Given the description of an element on the screen output the (x, y) to click on. 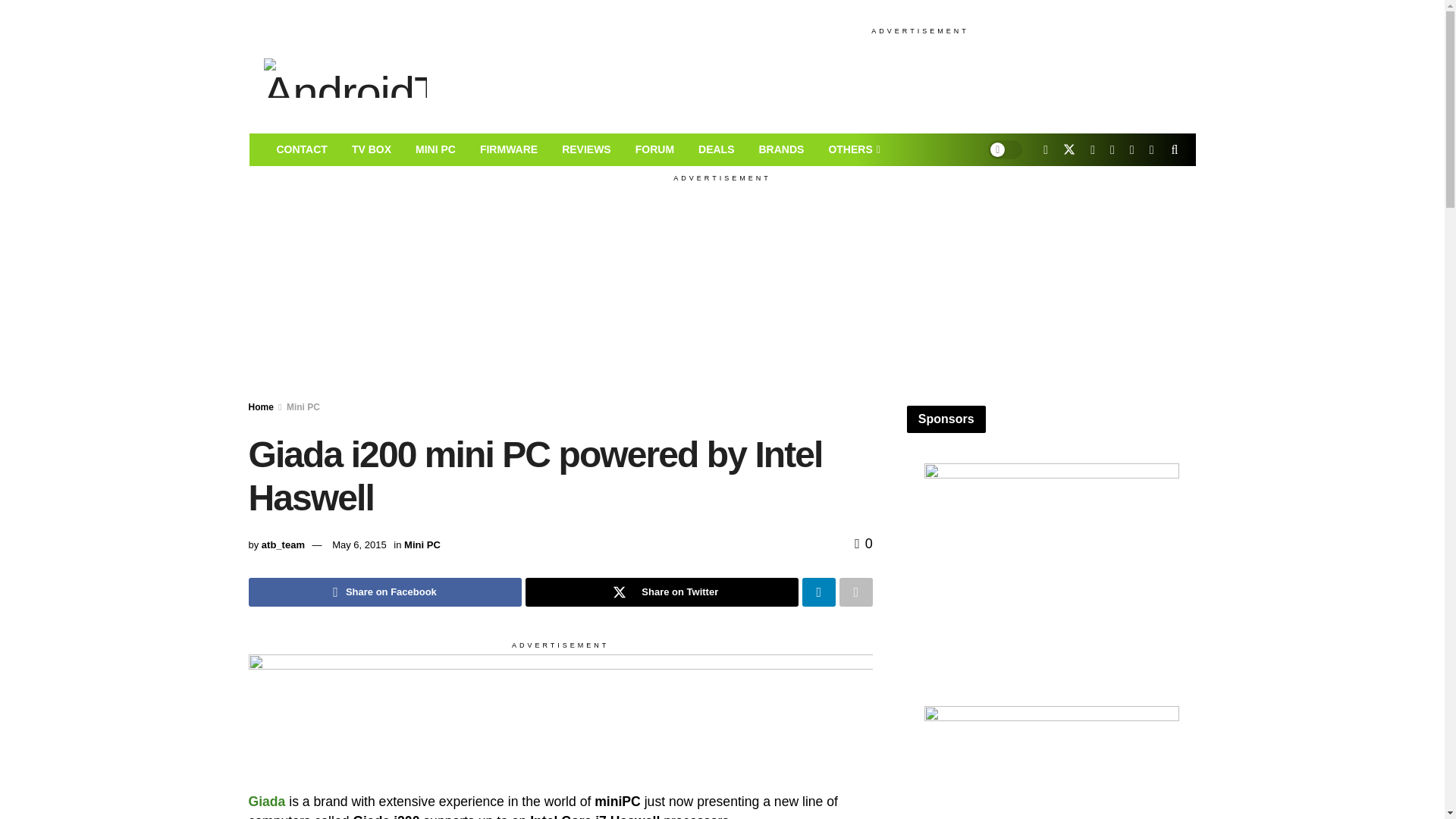
MINI PC (435, 149)
TV BOX (371, 149)
FIRMWARE (508, 149)
CONTACT (301, 149)
FORUM (654, 149)
OTHERS (852, 149)
glyphicon-envelope (301, 149)
DEALS (715, 149)
REVIEWS (586, 149)
BRANDS (780, 149)
